Given the description of an element on the screen output the (x, y) to click on. 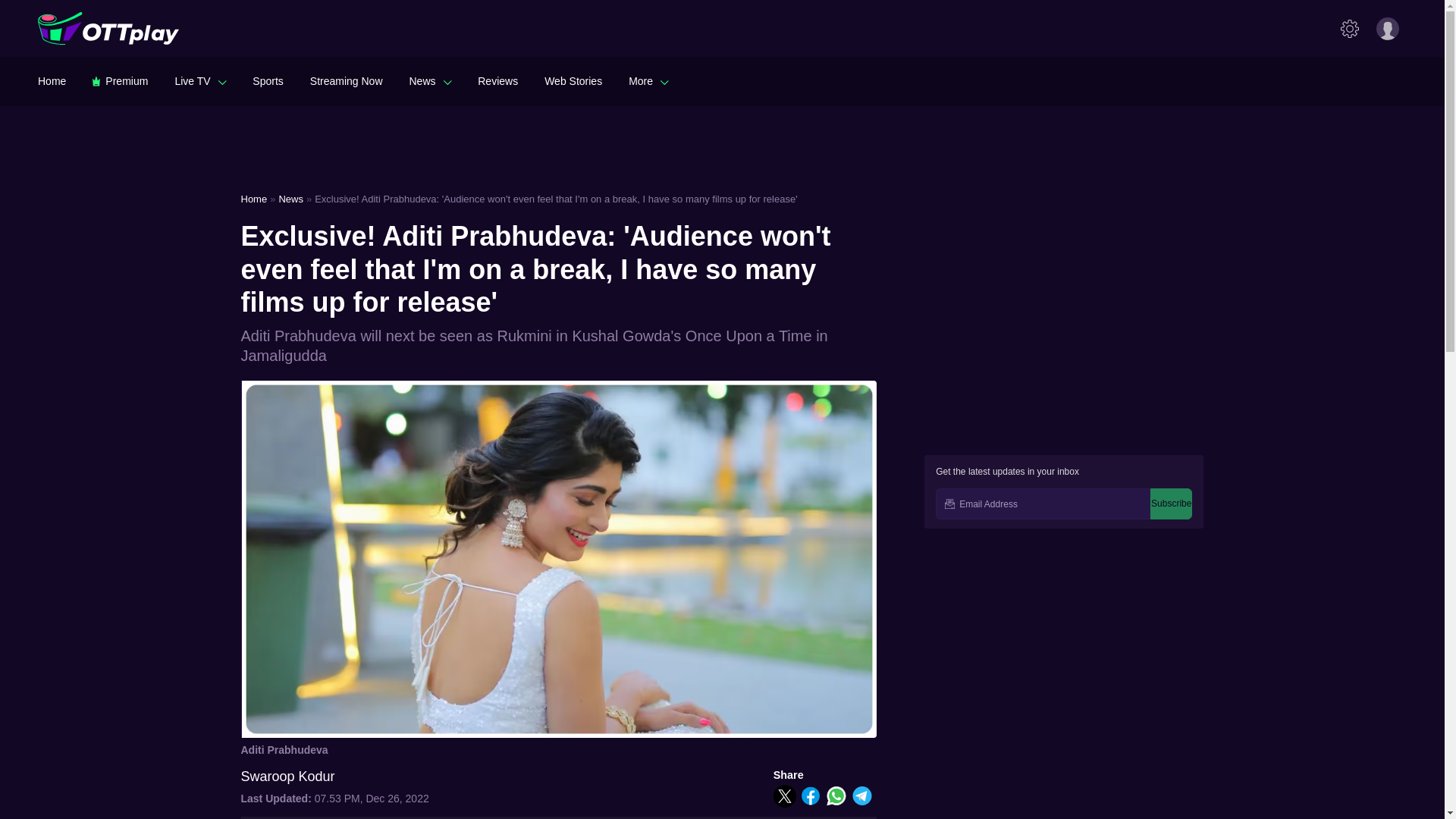
Live TV (199, 80)
Web Stories (573, 80)
Streaming Now (346, 80)
News (430, 80)
Premium (120, 80)
